Given the description of an element on the screen output the (x, y) to click on. 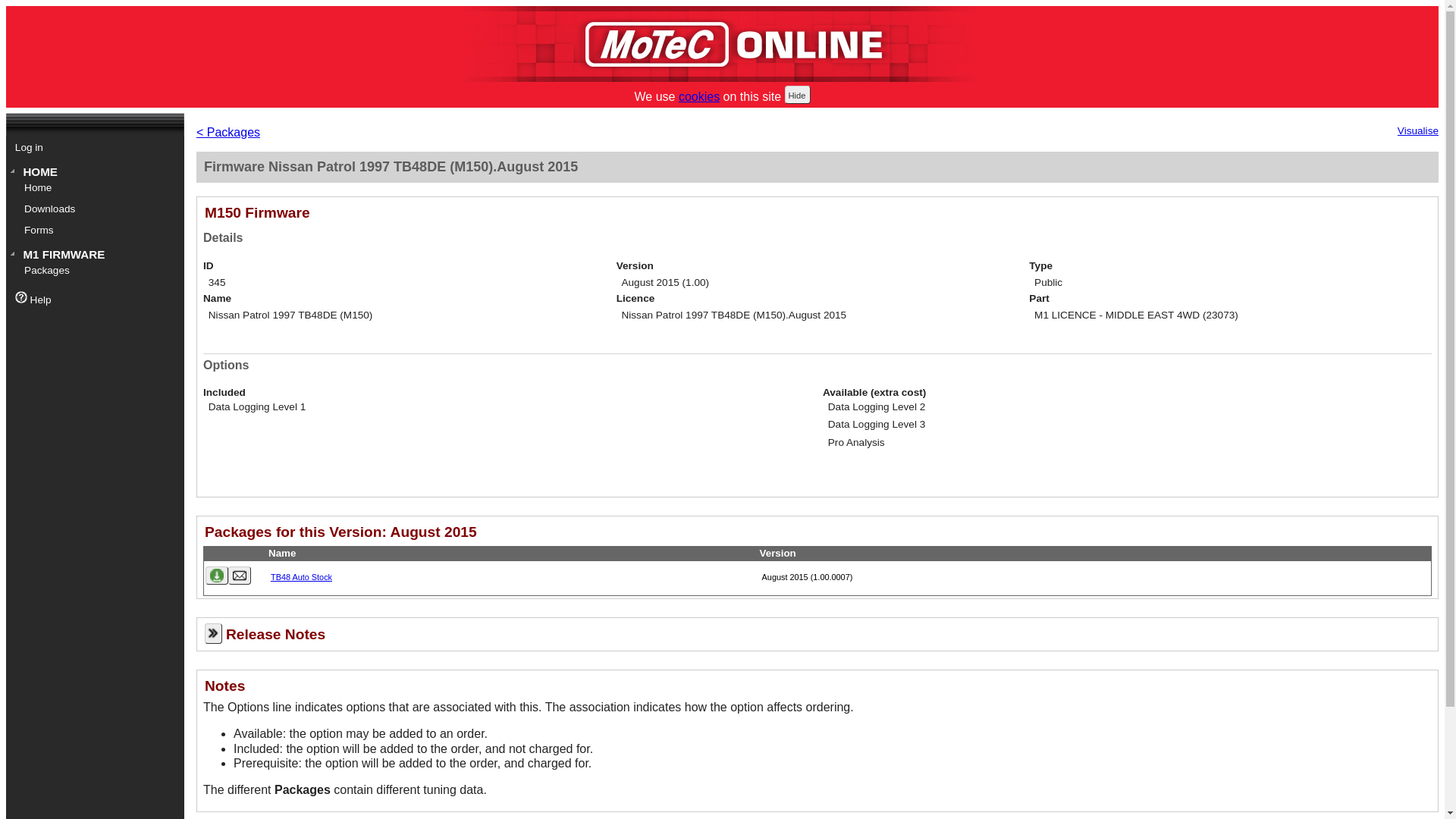
HOME Element type: text (94, 171)
Downloads Element type: text (99, 209)
Home Element type: text (99, 187)
Email package Element type: hover (239, 575)
Release Notes Element type: text (817, 633)
Help Element type: text (94, 299)
Forms Element type: text (99, 230)
Packages Element type: text (99, 270)
Hide Element type: text (797, 94)
Log in Element type: text (94, 147)
TB48 Auto Stock Element type: text (301, 576)
M1 FIRMWARE Element type: text (94, 254)
Visualise Element type: text (1417, 131)
Download package Element type: hover (216, 575)
< Packages Element type: text (228, 131)
cookies Element type: text (698, 96)
